Given the description of an element on the screen output the (x, y) to click on. 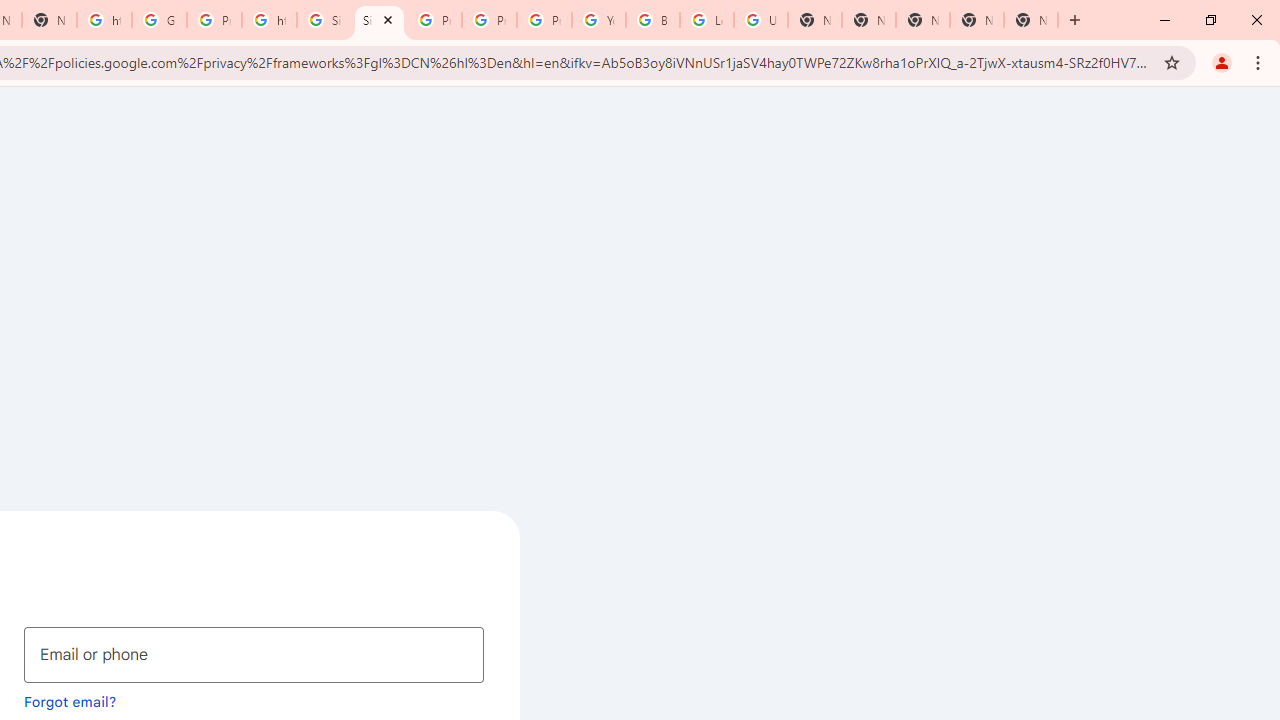
New Tab (1030, 20)
Email or phone (253, 654)
New Tab (922, 20)
Sign in - Google Accounts (379, 20)
YouTube (598, 20)
Forgot email? (70, 701)
